Given the description of an element on the screen output the (x, y) to click on. 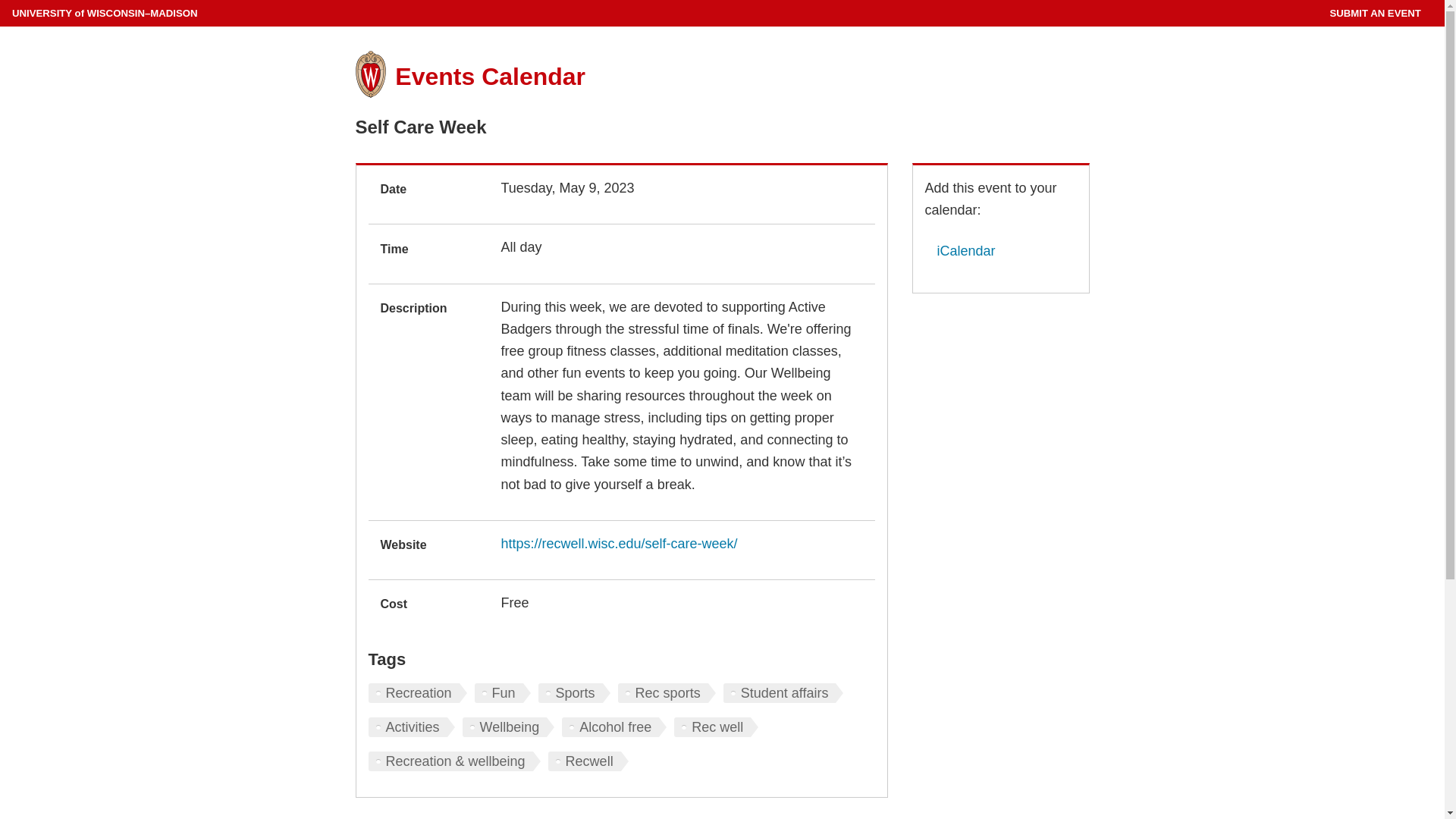
iCalendar (959, 250)
Recwell (588, 761)
Fun (502, 692)
Wellbeing (508, 727)
Sports (574, 692)
Rec sports (666, 692)
Rec well (716, 727)
Student affairs (783, 692)
Skip to main content (3, 3)
Recreation (417, 692)
